Given the description of an element on the screen output the (x, y) to click on. 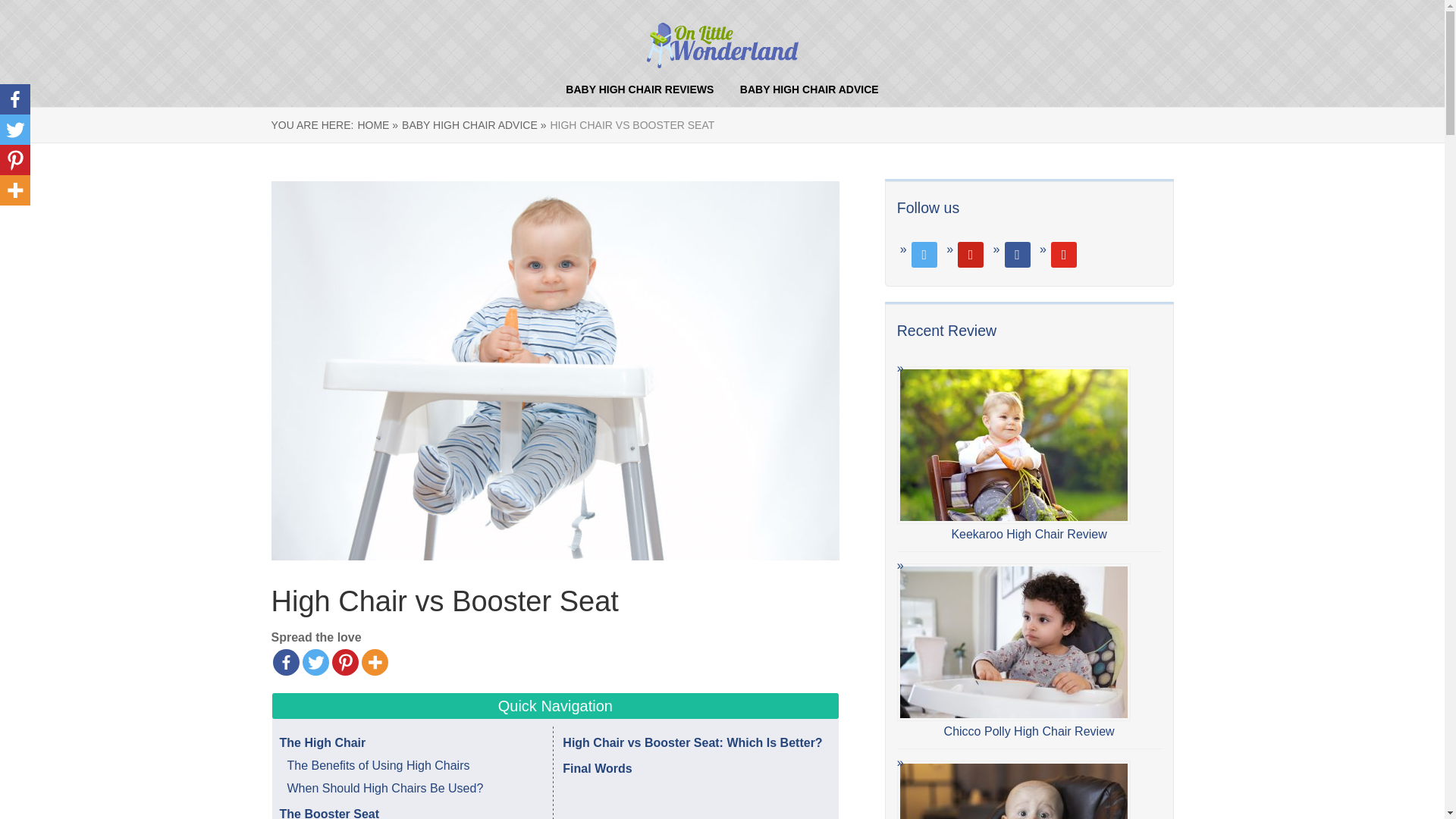
youtube (1064, 253)
When Should High Chairs Be Used? (384, 788)
Instagram (1017, 253)
Twitter (971, 253)
More (15, 190)
Pinterest (344, 662)
pinterest (971, 253)
BABY HIGH CHAIR REVIEWS (639, 89)
Facebook (286, 662)
Pinterest (15, 159)
